Given the description of an element on the screen output the (x, y) to click on. 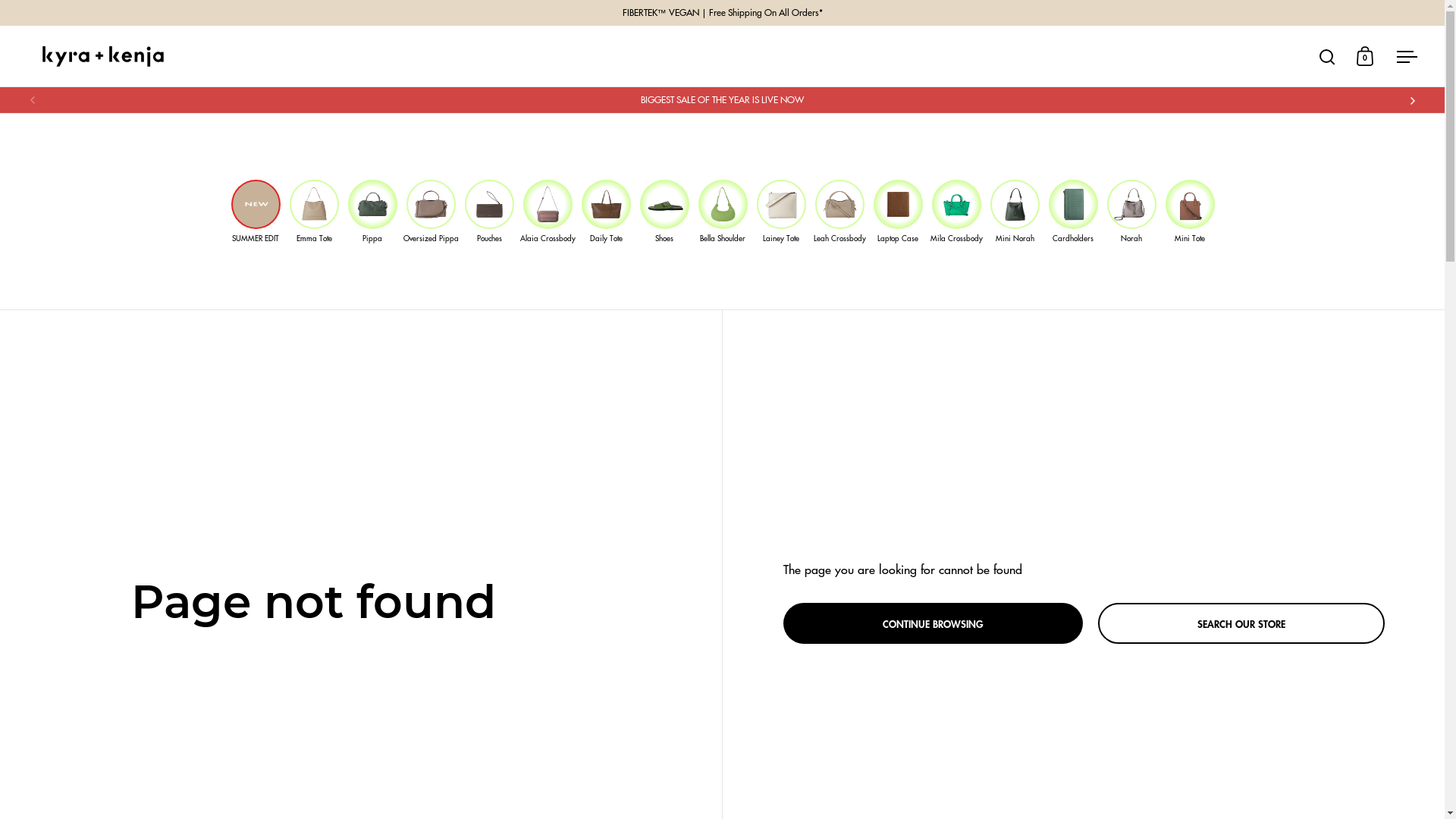
Lainey Tote Element type: text (780, 210)
Bella Shoulder Element type: text (722, 210)
SEARCH OUR STORE Element type: text (1241, 622)
Laptop Case Element type: text (897, 210)
Leah Crossbody Element type: text (839, 210)
Cardholders Element type: text (1072, 210)
Alaia Crossbody Element type: text (546, 210)
Pouches Element type: text (489, 210)
SUMMER EDIT Element type: text (255, 210)
Mila Crossbody Element type: text (956, 210)
CONTINUE BROWSING Element type: text (932, 622)
Norah Element type: text (1130, 210)
0 Element type: text (1364, 55)
Emma Tote Element type: text (313, 210)
Open search< Element type: hover (1327, 56)
Daily Tote Element type: text (605, 210)
Skip to content Element type: text (0, 0)
Mini Norah Element type: text (1013, 210)
Open menu Element type: text (1406, 55)
Oversized Pippa Element type: text (429, 210)
Shoes Element type: text (663, 210)
Mini Tote Element type: text (1189, 210)
Pippa Element type: text (372, 210)
